Given the description of an element on the screen output the (x, y) to click on. 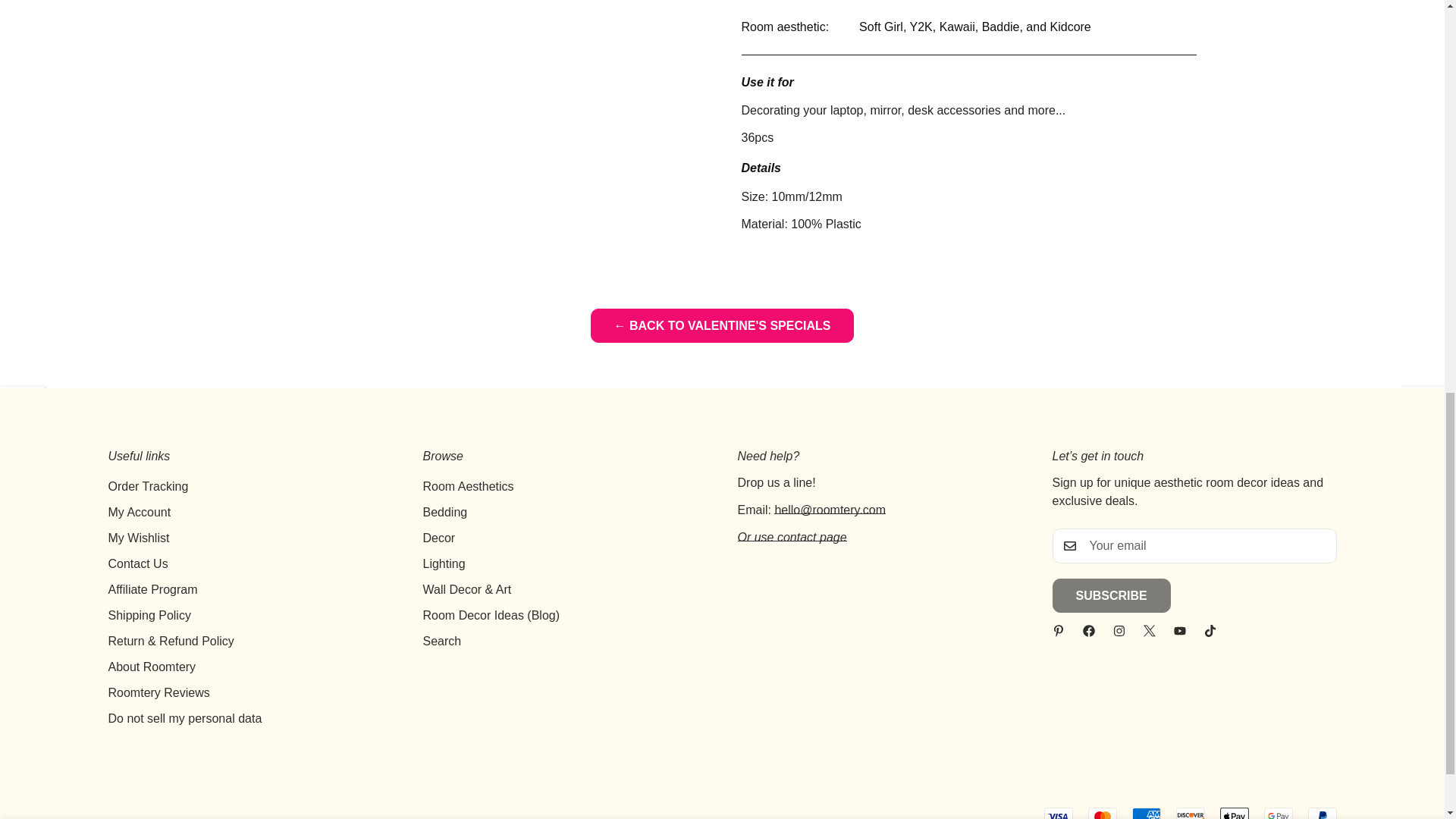
Contact roomtery by email (829, 509)
1 (951, 28)
Contact us (790, 536)
